Given the description of an element on the screen output the (x, y) to click on. 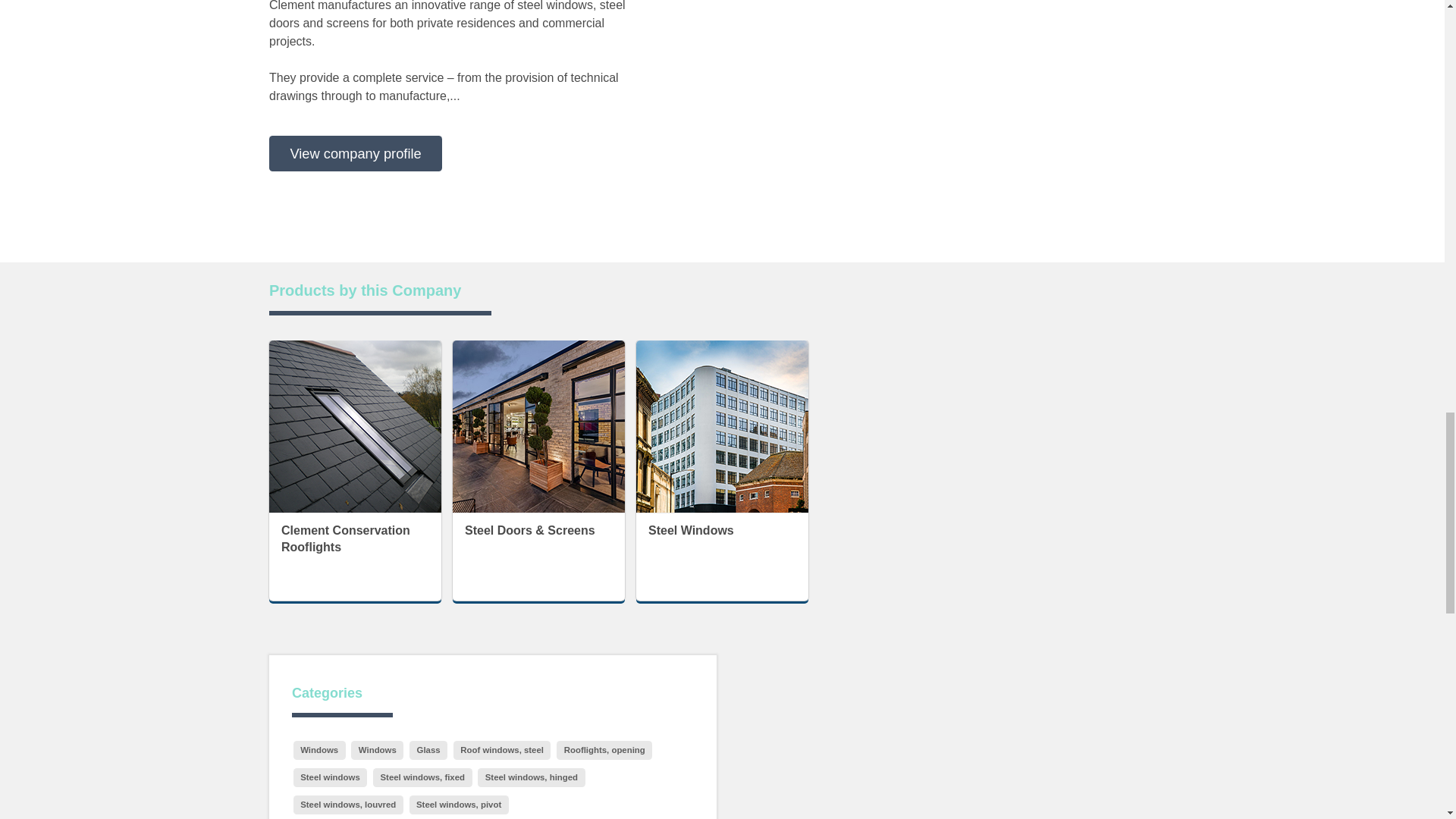
Visit ...  (345, 538)
Visit ...  (355, 425)
Clement Conservation Rooflights (355, 426)
